Given the description of an element on the screen output the (x, y) to click on. 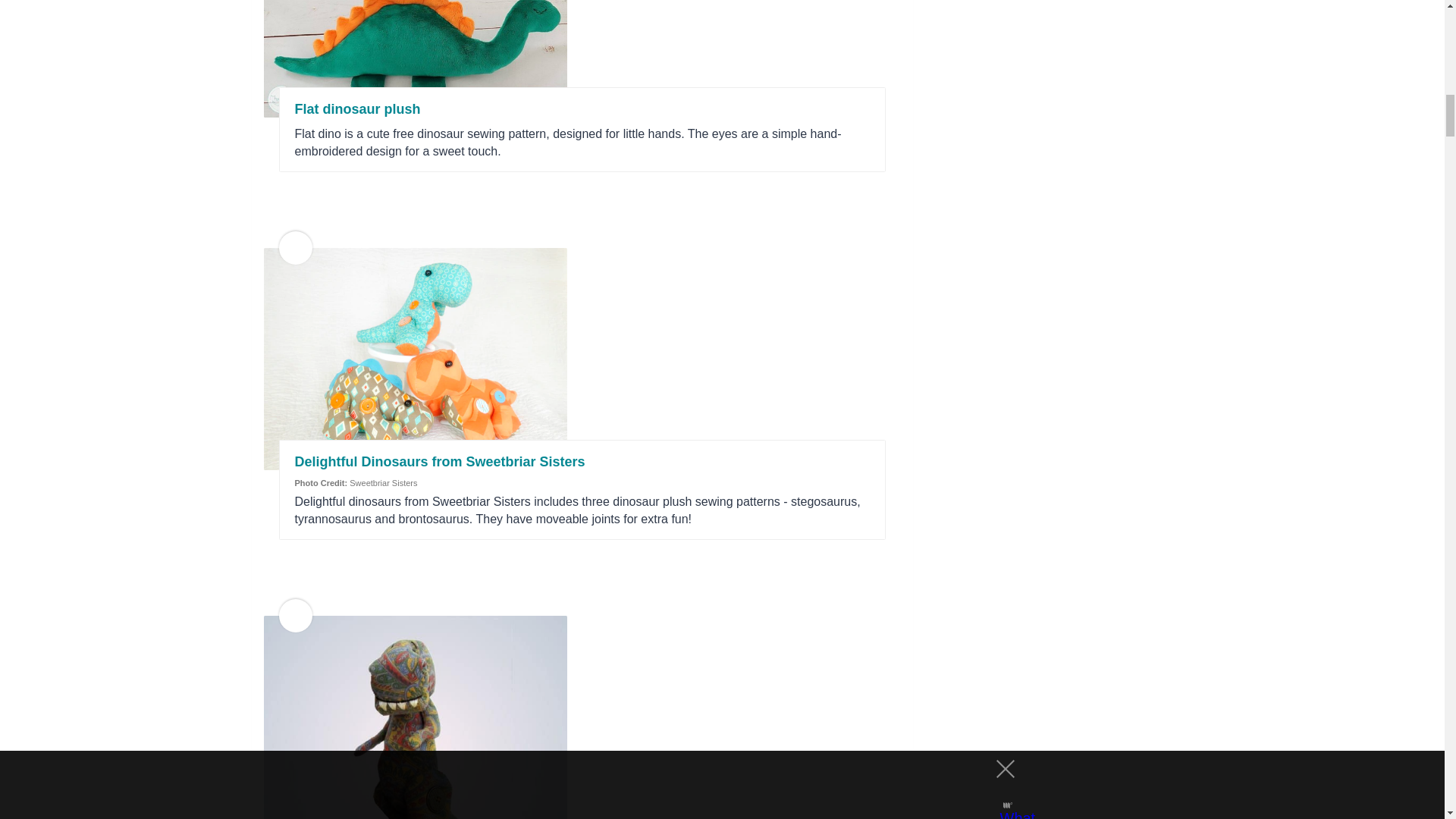
Flat dinosaur plush (357, 109)
Delightful Dinosaurs from Sweetbriar Sisters (439, 461)
